Given the description of an element on the screen output the (x, y) to click on. 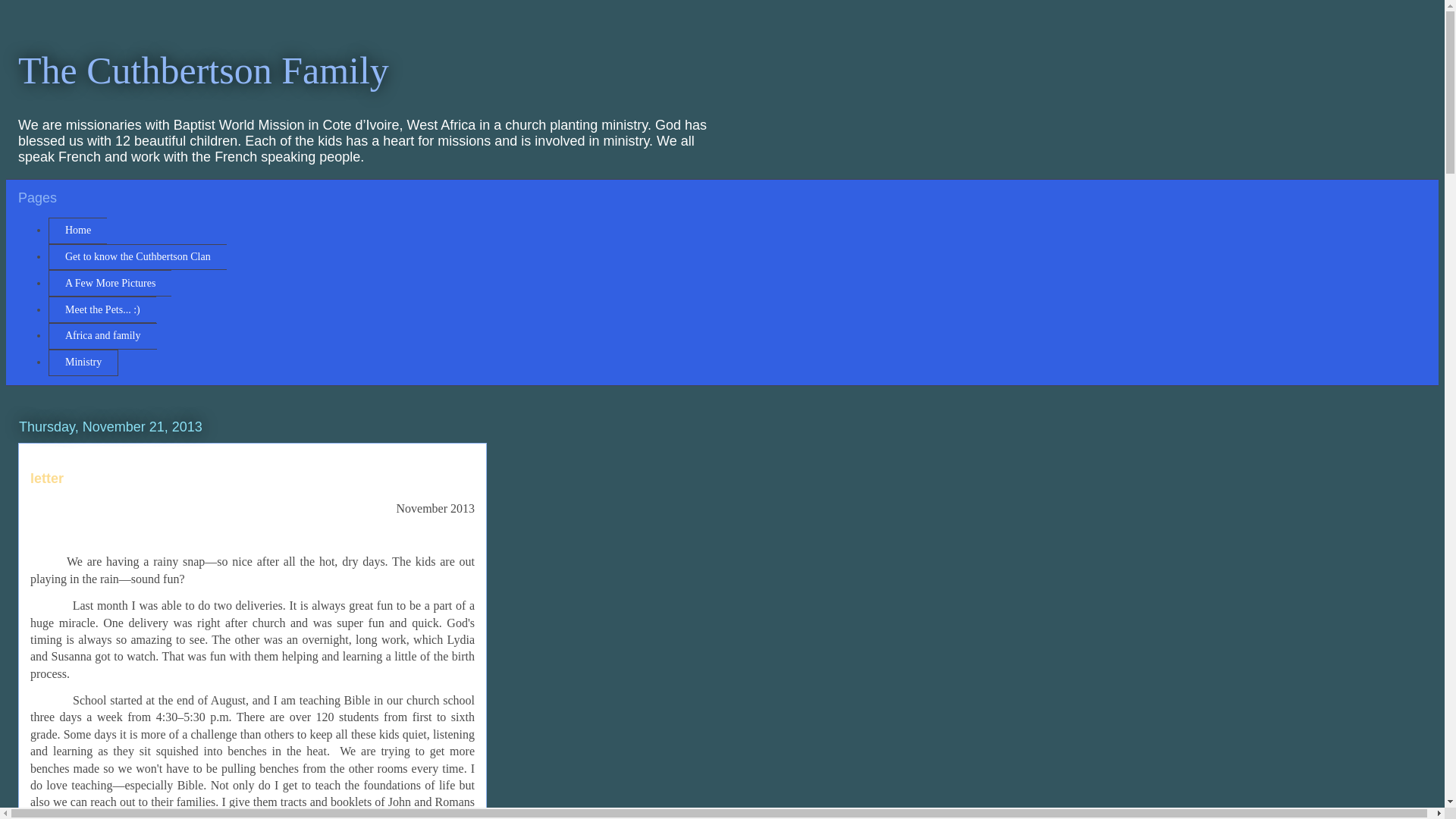
The Cuthbertson Family (202, 69)
Get to know the Cuthbertson Clan (137, 257)
Home (77, 230)
Ministry (82, 362)
A Few More Pictures (109, 283)
Africa and family (102, 335)
